Given the description of an element on the screen output the (x, y) to click on. 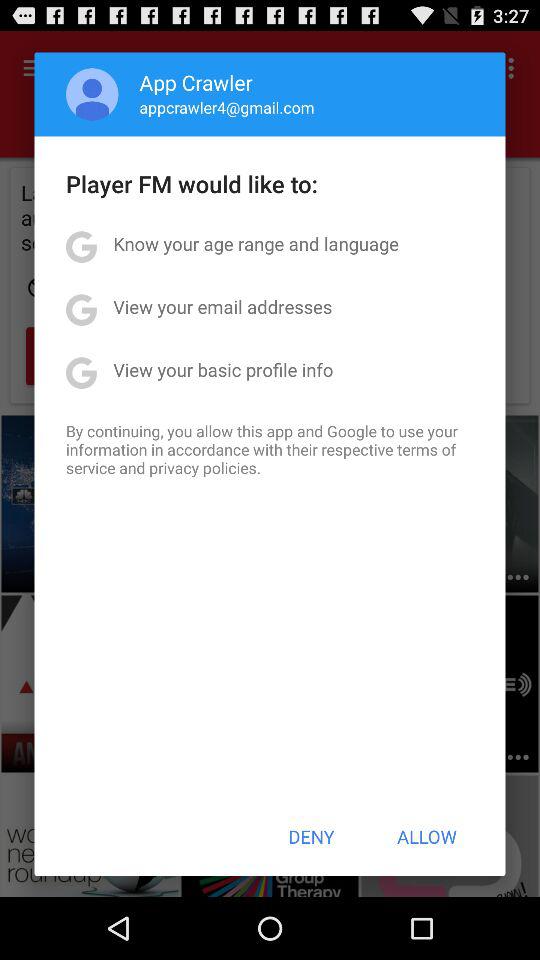
press appcrawler4@gmail.com item (226, 107)
